Given the description of an element on the screen output the (x, y) to click on. 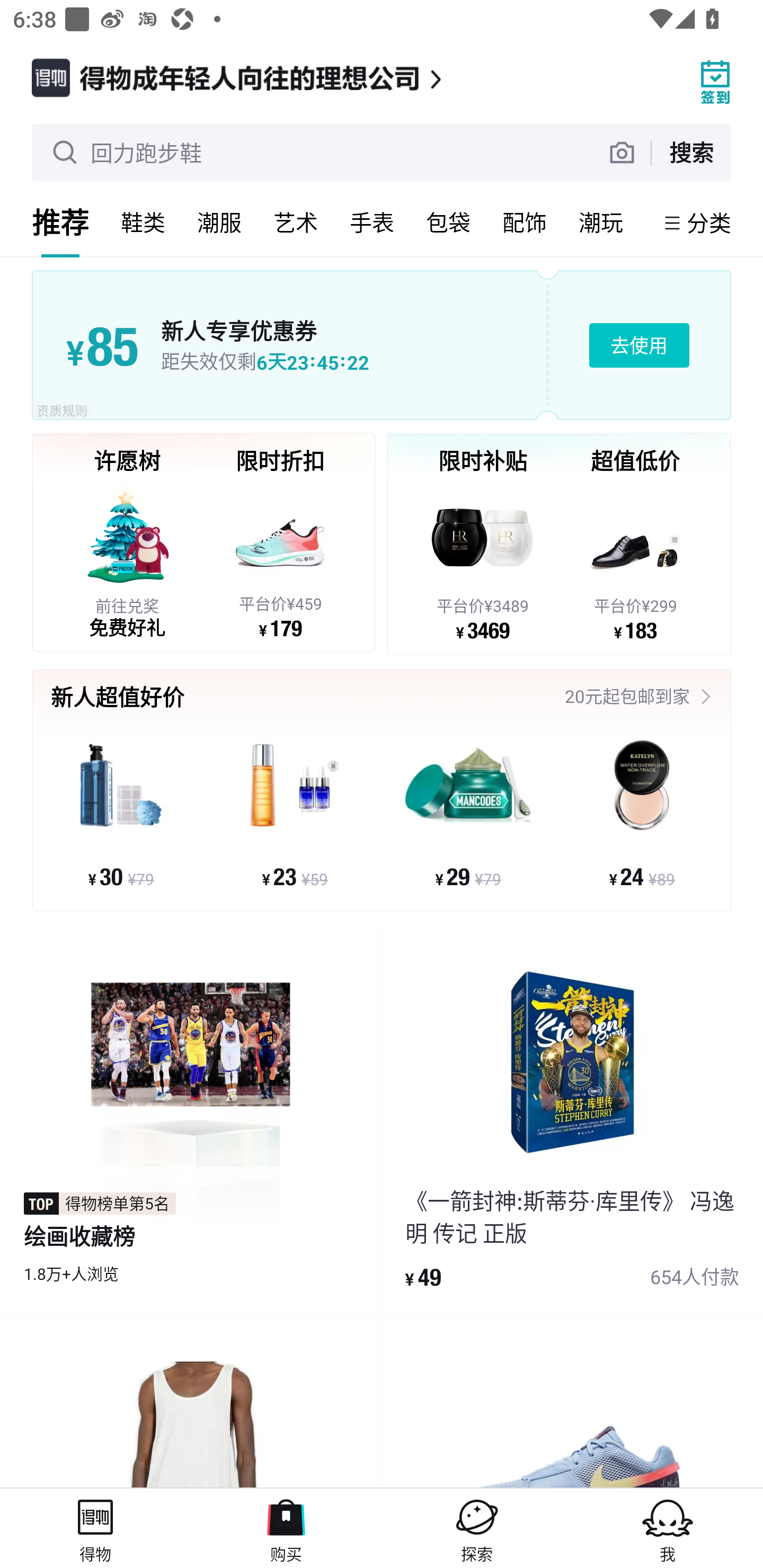
搜索 (690, 152)
推荐 (60, 222)
鞋类 (143, 222)
潮服 (219, 222)
艺术 (295, 222)
手表 (372, 222)
包袋 (448, 222)
配饰 (524, 222)
潮玩 (601, 222)
分类 (708, 222)
平台价¥459 ¥ 179 (279, 559)
前往兑奖 免费好礼 (127, 559)
平台价¥3489 ¥ 3469 (482, 560)
平台价¥299 ¥ 183 (635, 560)
¥ 30 ¥79 (121, 813)
¥ 23 ¥59 (294, 813)
¥ 29 ¥79 (468, 813)
¥ 24 ¥89 (641, 813)
得物榜单第5名 绘画收藏榜 1.8万+人浏览 (190, 1118)
product_item 《一箭封神:斯蒂芬·库里传》 冯逸
明 传记 正版 ¥ 49 654人付款 (572, 1118)
得物 (95, 1528)
购买 (285, 1528)
探索 (476, 1528)
我 (667, 1528)
